Given the description of an element on the screen output the (x, y) to click on. 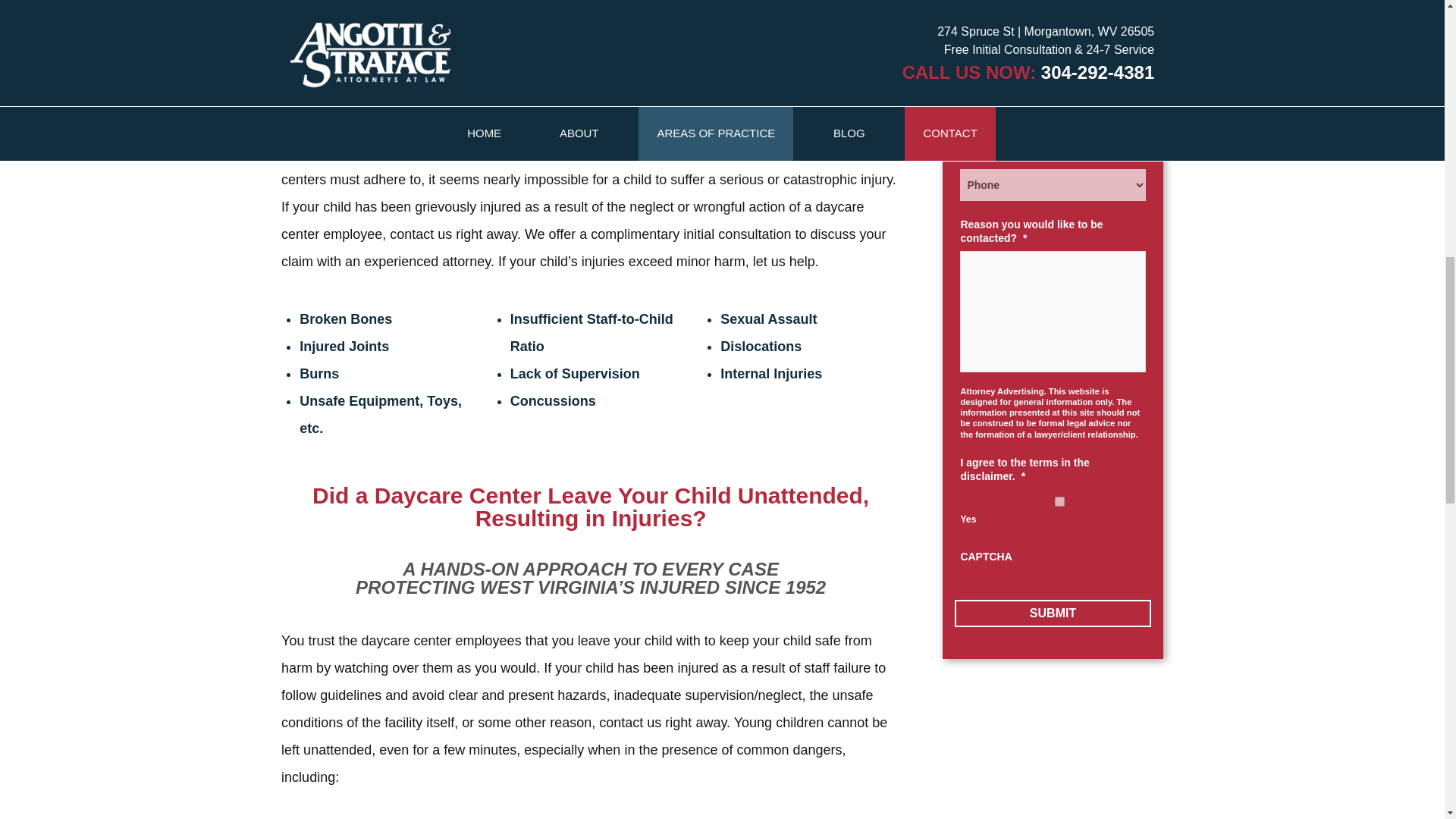
Yes (1058, 501)
Submit (1053, 612)
